Given the description of an element on the screen output the (x, y) to click on. 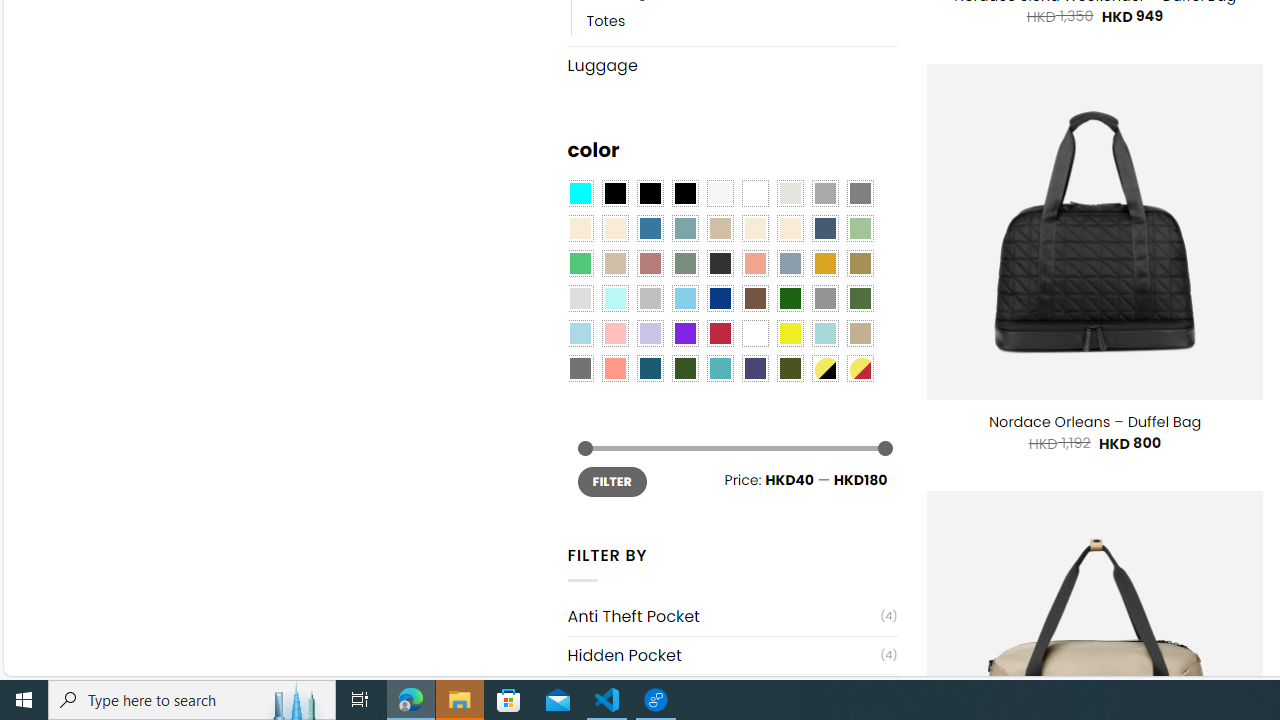
Hale Navy (824, 228)
FILTER (612, 481)
Brown (755, 298)
Mint (614, 298)
Anti Theft Pocket(4) (732, 616)
Blue Sage (684, 228)
Dark Green (789, 298)
Yellow-Black (824, 368)
Light Gray (579, 298)
Blue (650, 228)
Yellow-Red (859, 368)
Charcoal (719, 264)
Dull Nickle (579, 368)
Beige (579, 228)
